Given the description of an element on the screen output the (x, y) to click on. 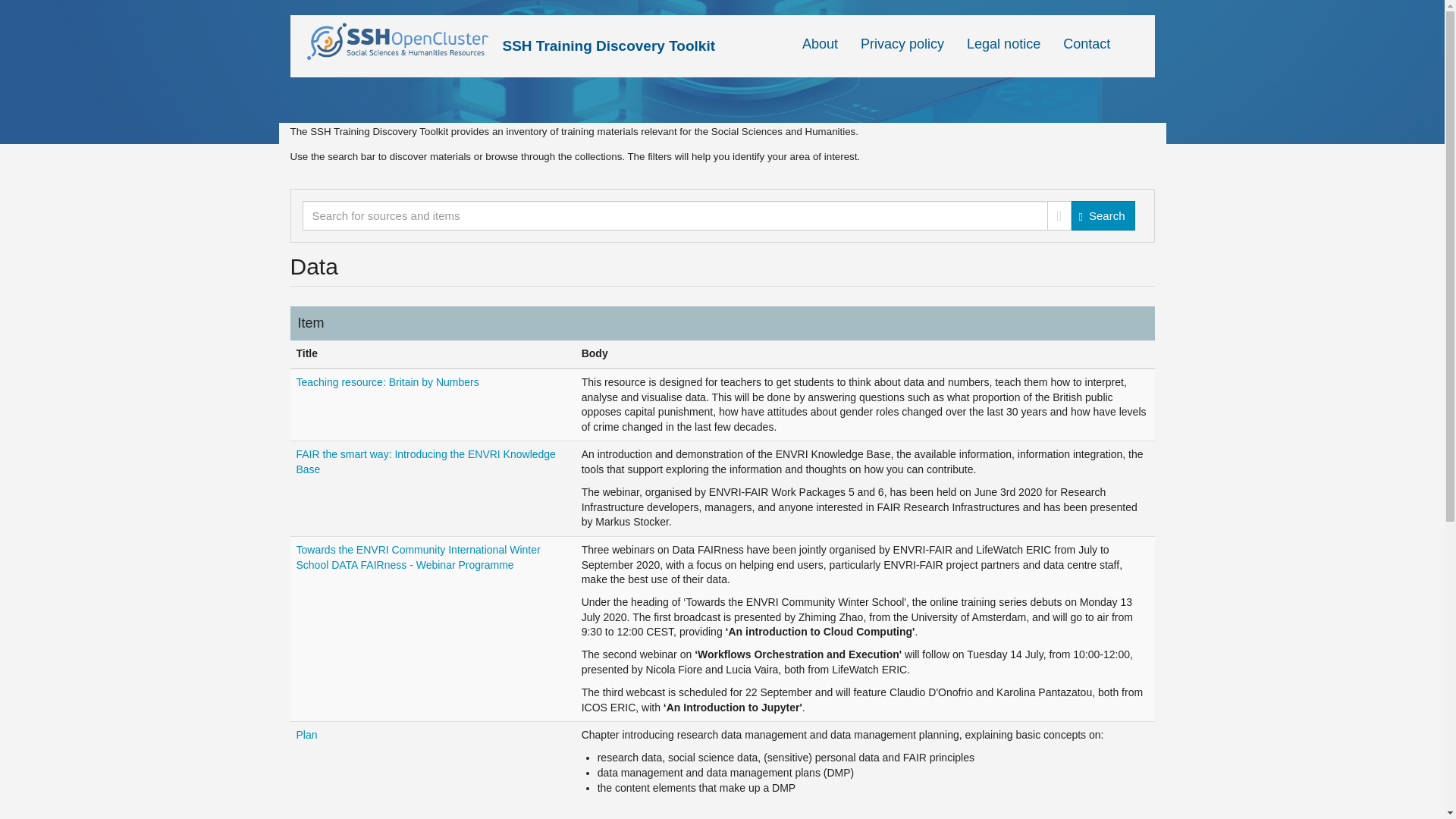
SSHOC Website (401, 42)
Contact (1086, 46)
Plan (306, 734)
SSH Training Discovery Toolkit (608, 37)
Legal notice (1003, 46)
Privacy policy (901, 46)
Search (1102, 215)
FAIR the smart way: Introducing the ENVRI Knowledge Base (424, 461)
Home (608, 37)
About (819, 46)
Teaching resource: Britain by Numbers (387, 381)
